Given the description of an element on the screen output the (x, y) to click on. 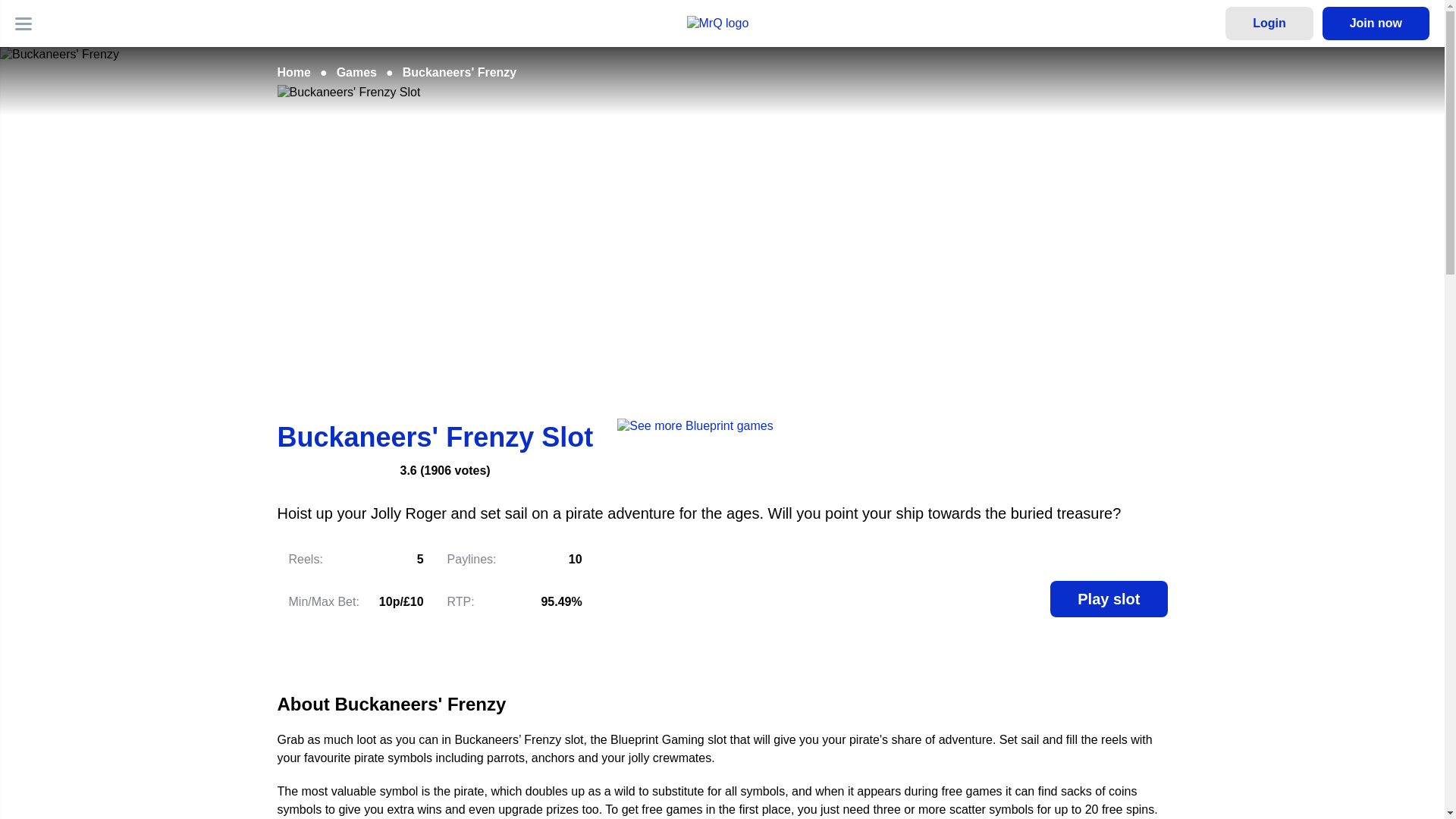
Join now (1375, 23)
Login (1269, 23)
Buckaneers' Frenzy (459, 72)
Games (356, 72)
Home (294, 72)
Login (1269, 23)
Back Home (722, 23)
See more Blueprint games (695, 436)
Join now (1375, 23)
